Given the description of an element on the screen output the (x, y) to click on. 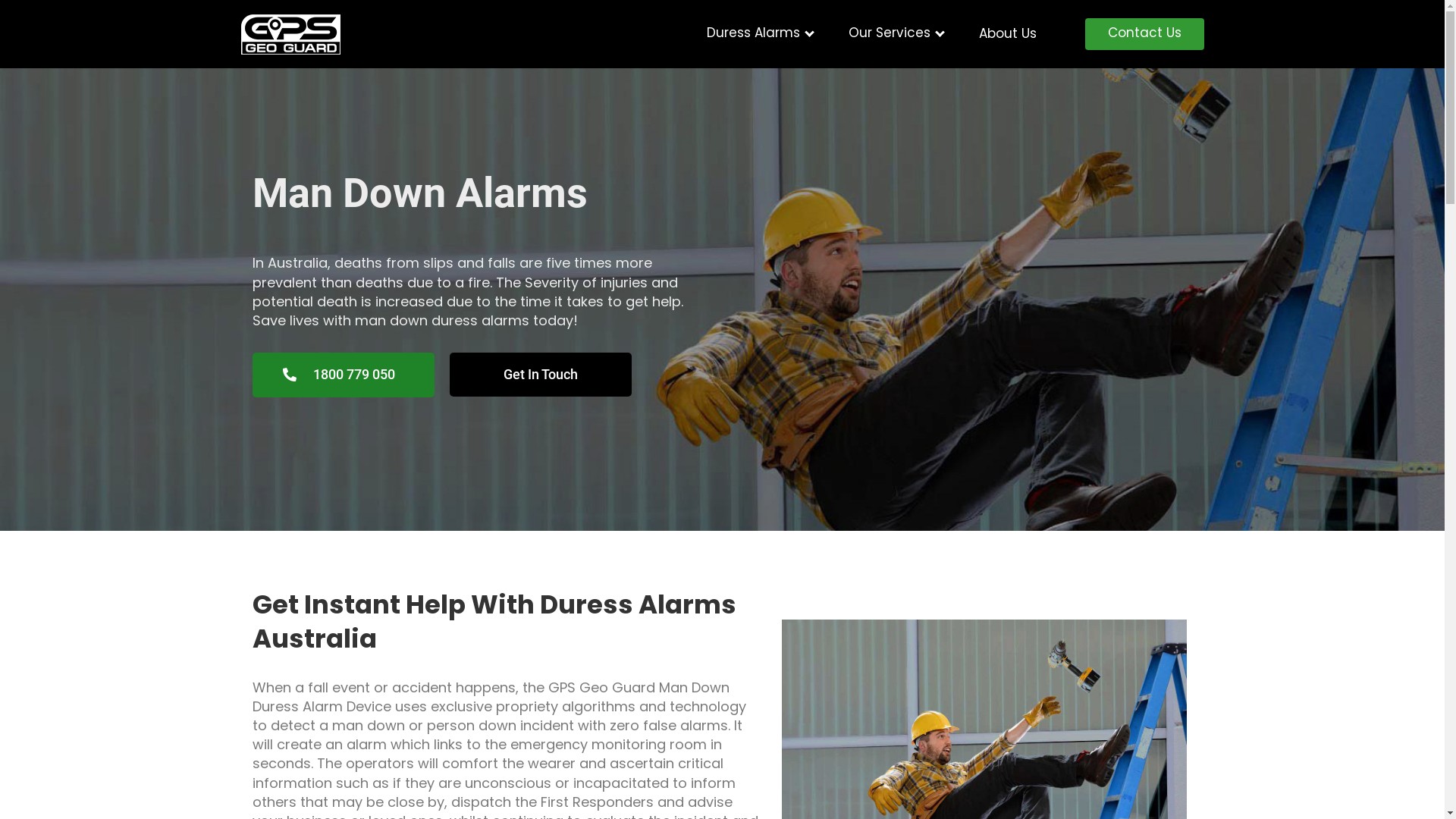
Get In Touch Element type: text (539, 374)
1800 779 050 Element type: text (342, 374)
About Us Element type: text (1006, 33)
Contact Us Element type: text (1143, 34)
Duress Alarms Element type: text (753, 34)
GPS Geo Guard Element type: text (313, 54)
Our Services Element type: text (888, 34)
